Given the description of an element on the screen output the (x, y) to click on. 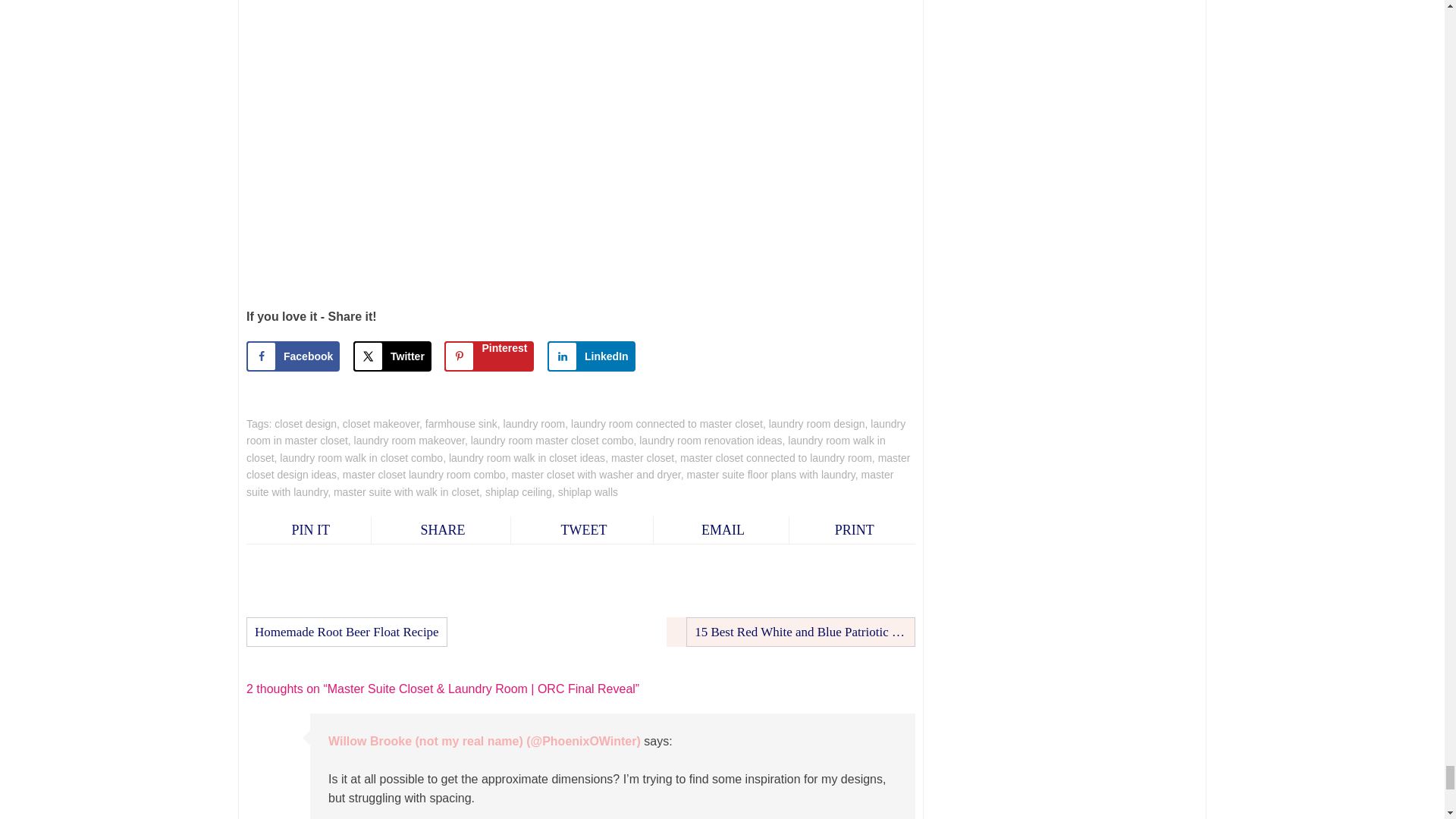
Share by Email (721, 529)
Share on Facebook (292, 356)
Save to Pinterest (489, 356)
Share on LinkedIn (590, 356)
Share on X (391, 356)
